Given the description of an element on the screen output the (x, y) to click on. 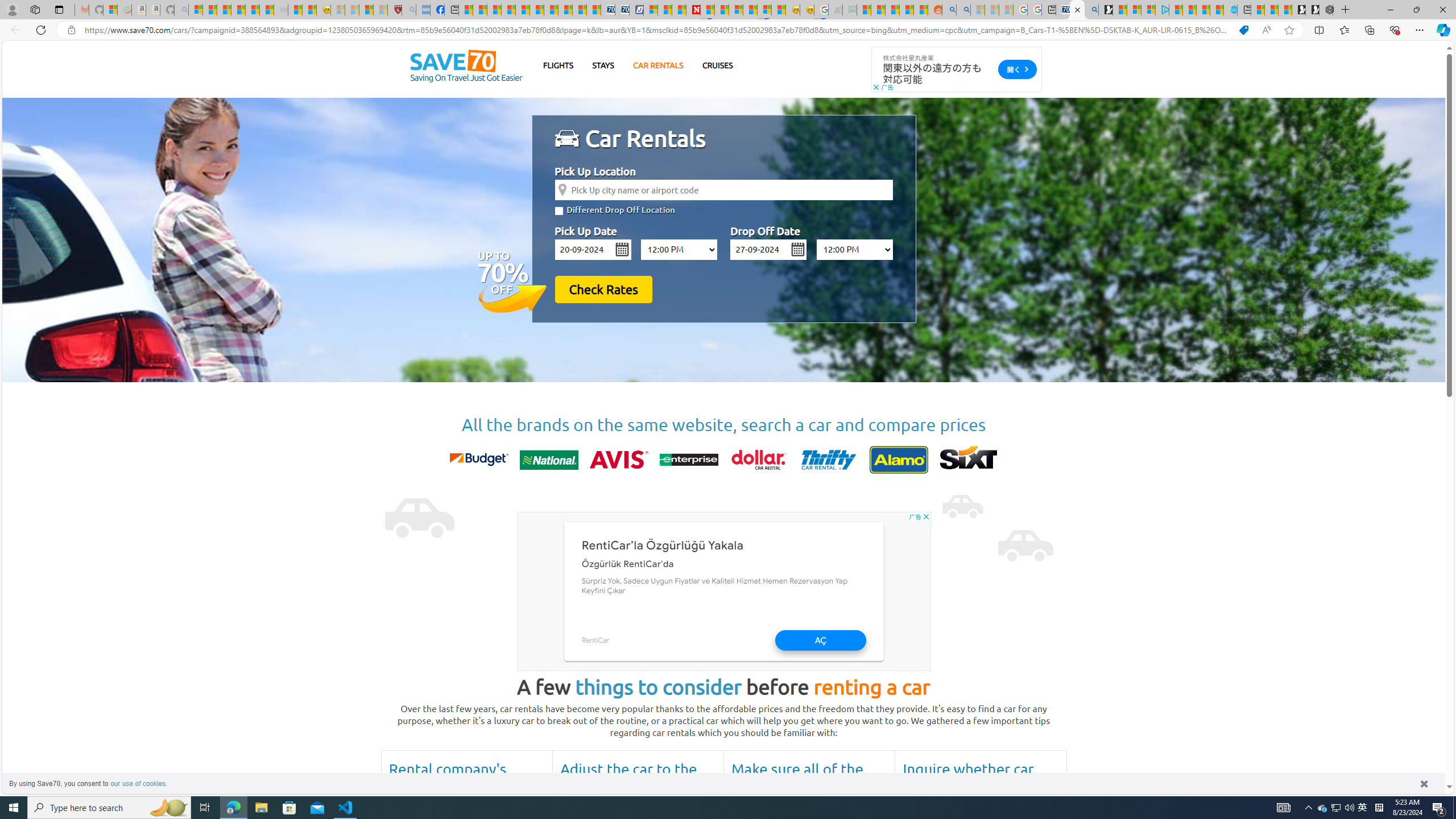
Budget (478, 459)
Microsoft account | Privacy (1147, 9)
dollar (758, 459)
Read aloud this page (Ctrl+Shift+U) (1266, 29)
New Tab (1346, 9)
avis (618, 459)
Pick Up city name or airport code (723, 189)
The Weather Channel - MSN (223, 9)
Favorites (1344, 29)
STAYS (603, 65)
